Given the description of an element on the screen output the (x, y) to click on. 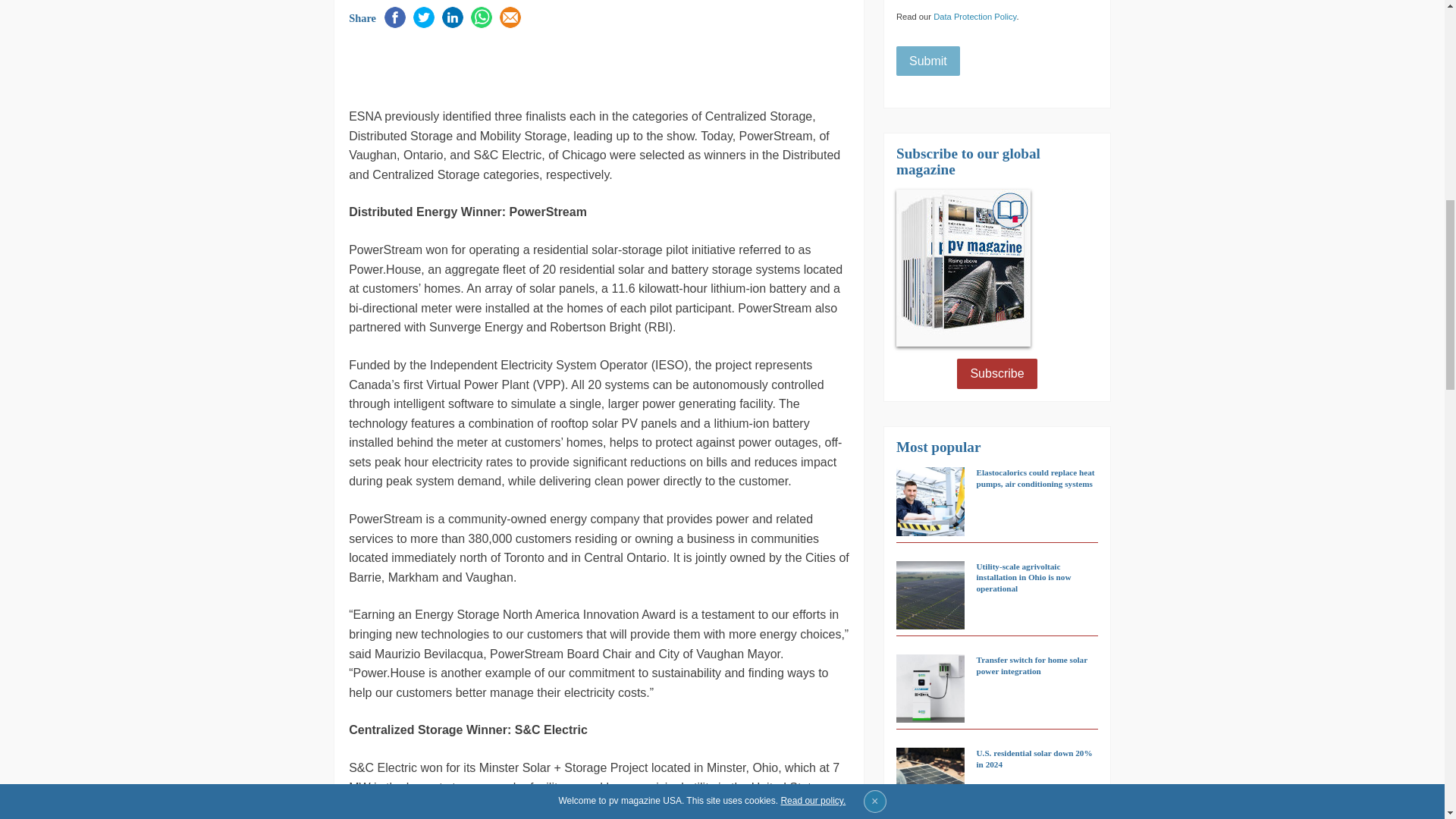
3rd party ad content (526, 65)
3rd party ad content (1199, 115)
Submit (927, 60)
